Given the description of an element on the screen output the (x, y) to click on. 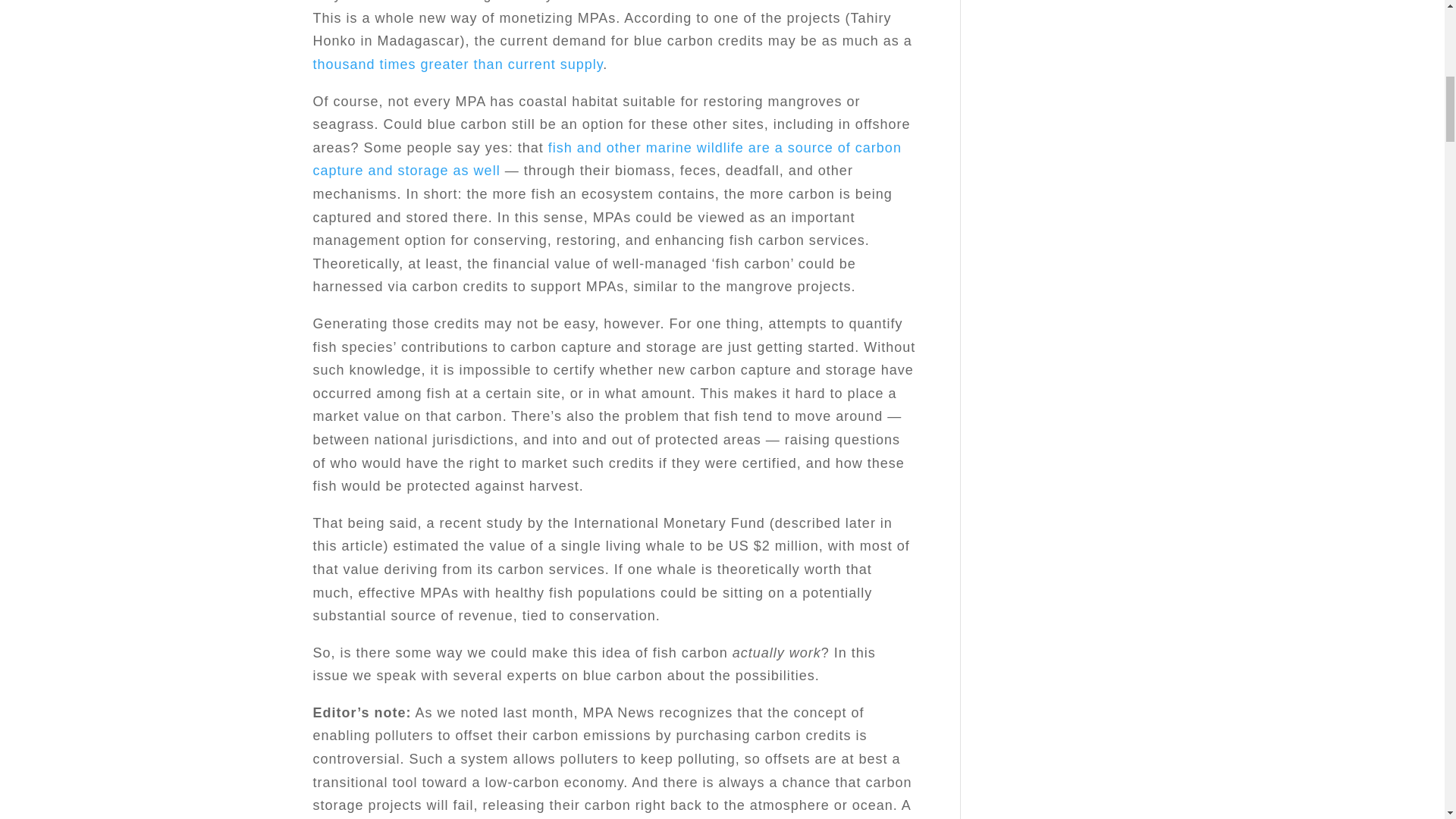
thousand times greater than current supply (457, 64)
